Given the description of an element on the screen output the (x, y) to click on. 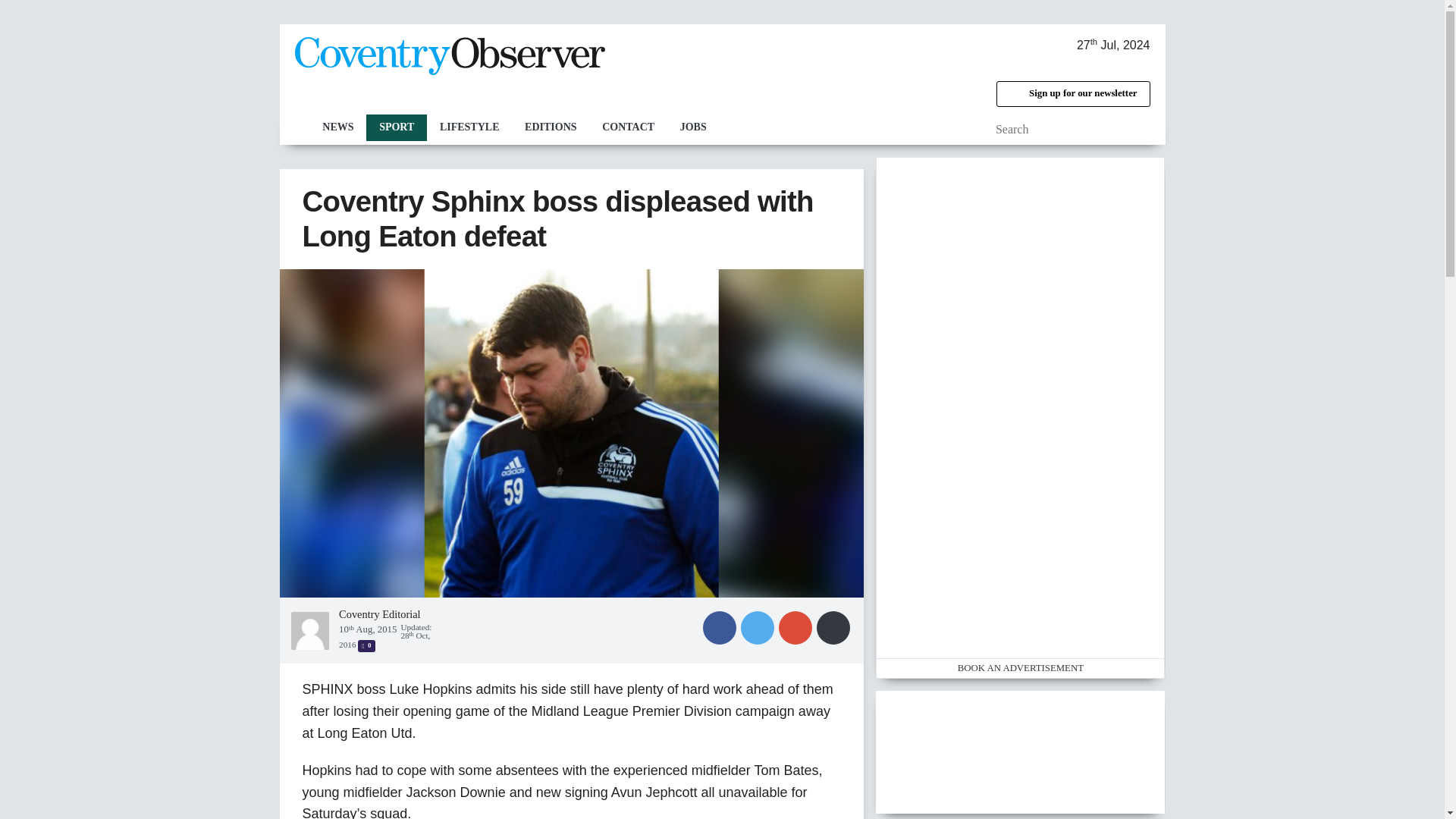
  Sign up for our newsletter (1072, 94)
LIFESTYLE (469, 127)
NEWS (337, 127)
SPORT (396, 127)
The Coventry Observer (449, 55)
CONTACT (627, 127)
EDITIONS (550, 127)
JOBS (692, 127)
